Given the description of an element on the screen output the (x, y) to click on. 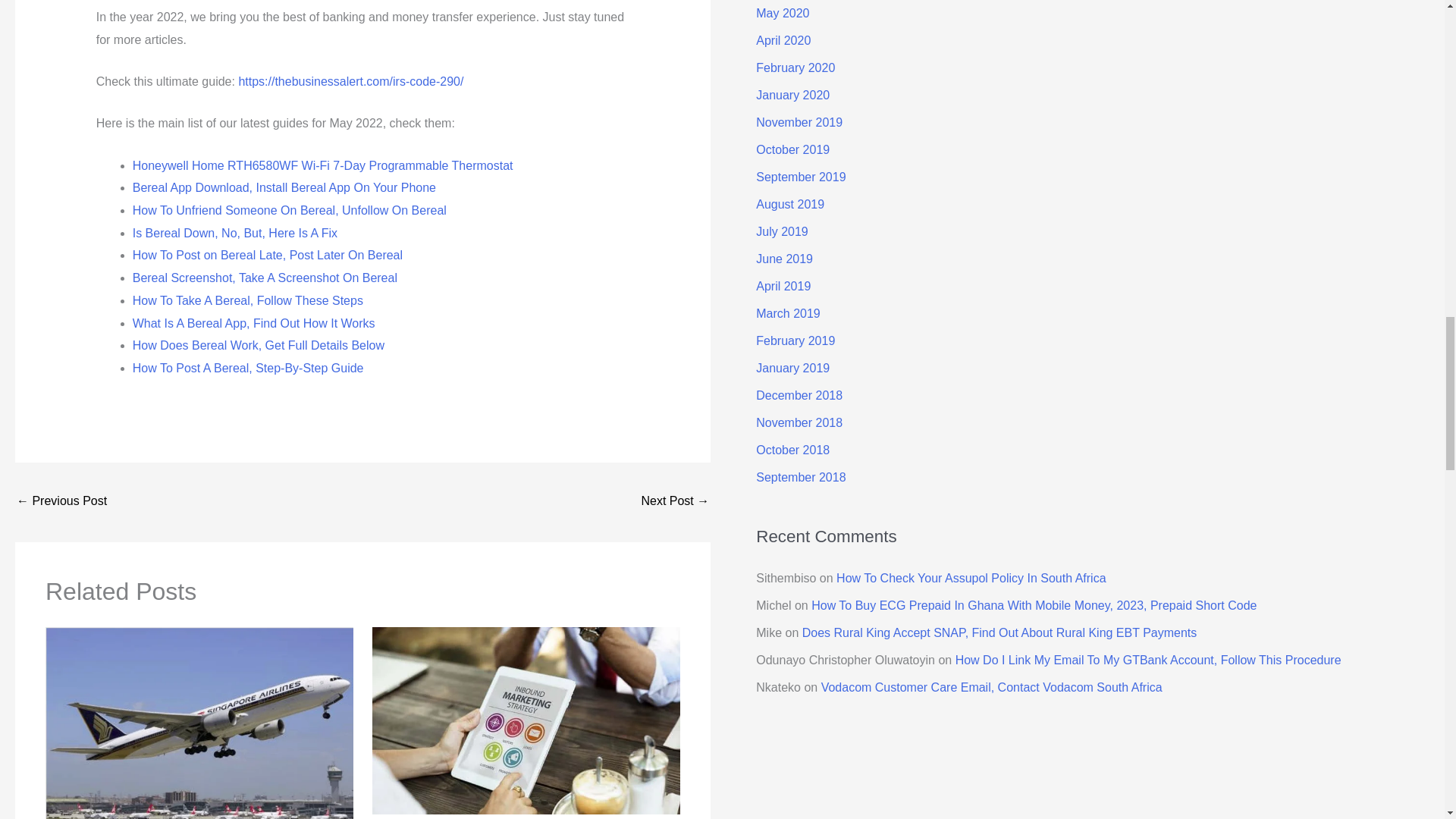
How To Take A Bereal, Follow These Steps (247, 300)
Bereal Screenshot, Take A Screenshot On Bereal (264, 277)
Is Bereal Down, No, But, Here Is A Fix (234, 232)
Honeywell Home RTH6580WF Wi-Fi 7-Day Programmable Thermostat (322, 164)
How To Post A Bereal, Step-By-Step Guide (248, 367)
How To Unfriend Someone On Bereal, Unfollow On Bereal (289, 210)
What Is A Bereal App, Find Out How It Works (253, 323)
Bereal App Download, Install Bereal App On Your Phone (283, 187)
